Given the description of an element on the screen output the (x, y) to click on. 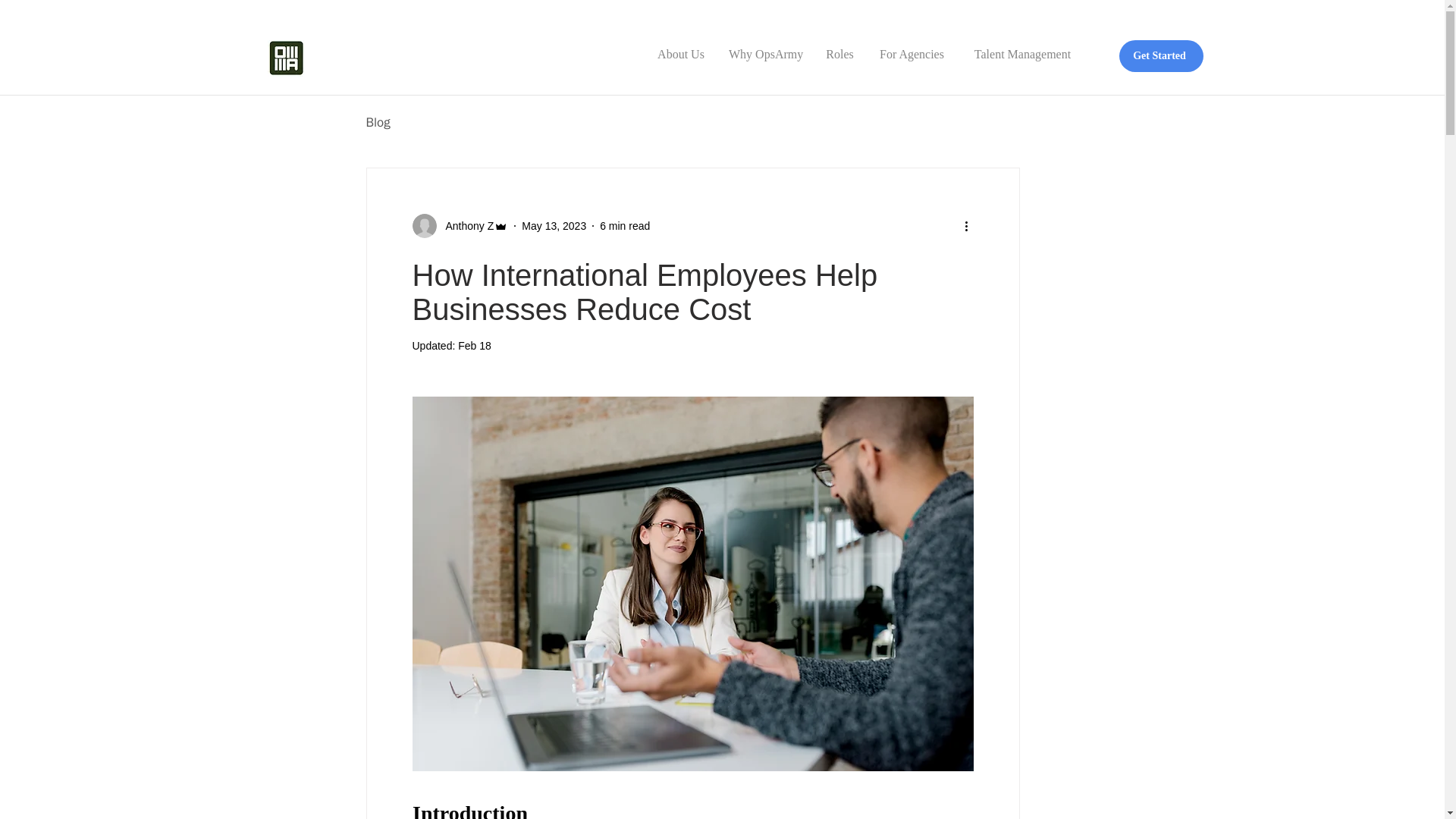
Why OpsArmy (764, 47)
Get Started (1161, 56)
Anthony Z (465, 226)
Blog (377, 122)
Talent Management (1021, 47)
About Us (680, 47)
For Agencies (911, 47)
May 13, 2023 (553, 225)
6 min read (624, 225)
Feb 18 (475, 345)
